Given the description of an element on the screen output the (x, y) to click on. 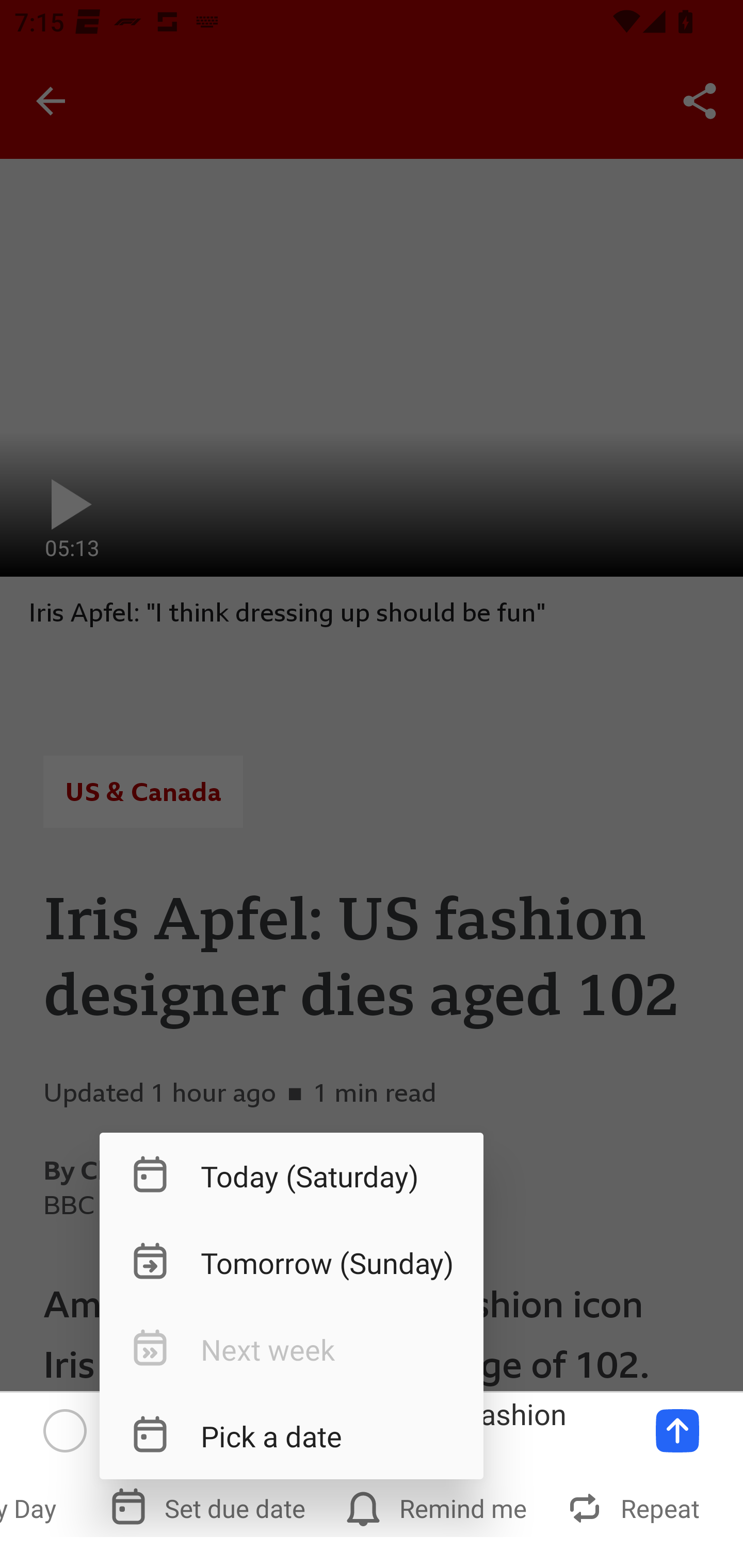
Today (Saturday)1 in 4 Today (Saturday) (291, 1175)
Tomorrow (Sunday)2 in 4 Tomorrow (Sunday) (291, 1262)
Next weekDimmed Next week (291, 1349)
Pick a date4 in 4 Pick a date (291, 1435)
